Given the description of an element on the screen output the (x, y) to click on. 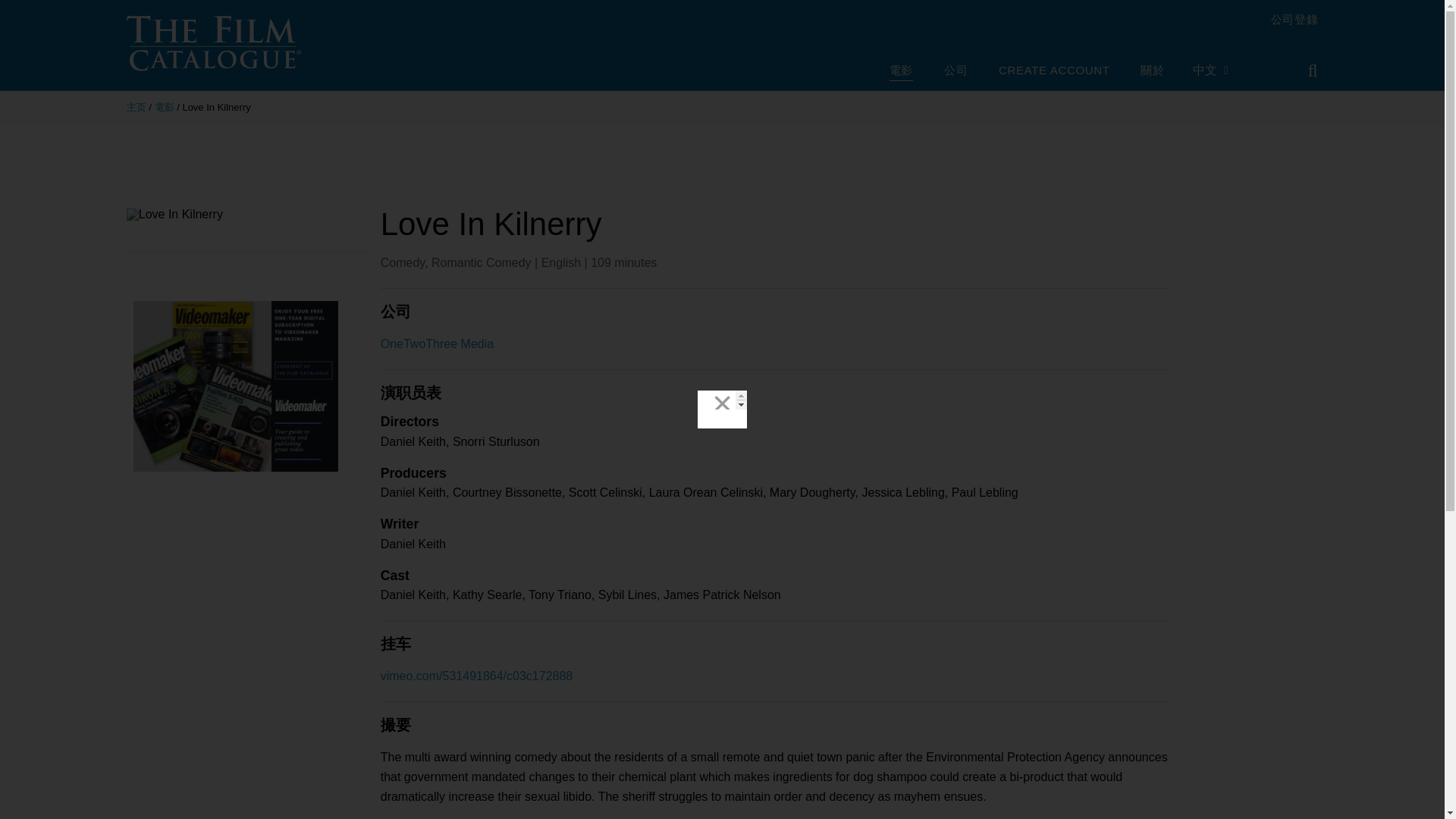
GO (1302, 70)
GO (1302, 70)
View Website (420, 818)
OneTwoThree Media (436, 343)
CREATE ACCOUNT (1053, 71)
GO (1302, 70)
